Given the description of an element on the screen output the (x, y) to click on. 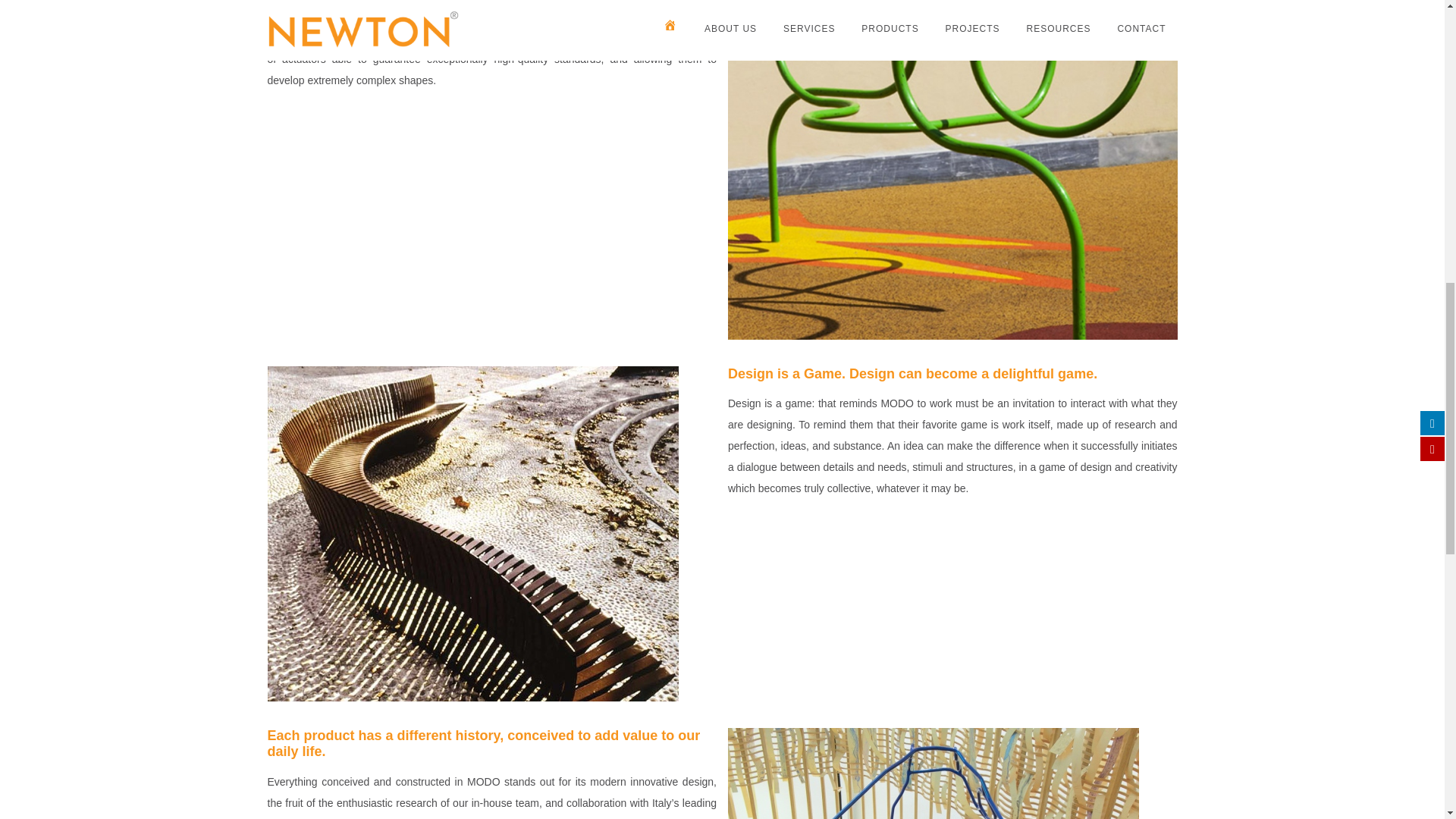
modo (933, 773)
